Given the description of an element on the screen output the (x, y) to click on. 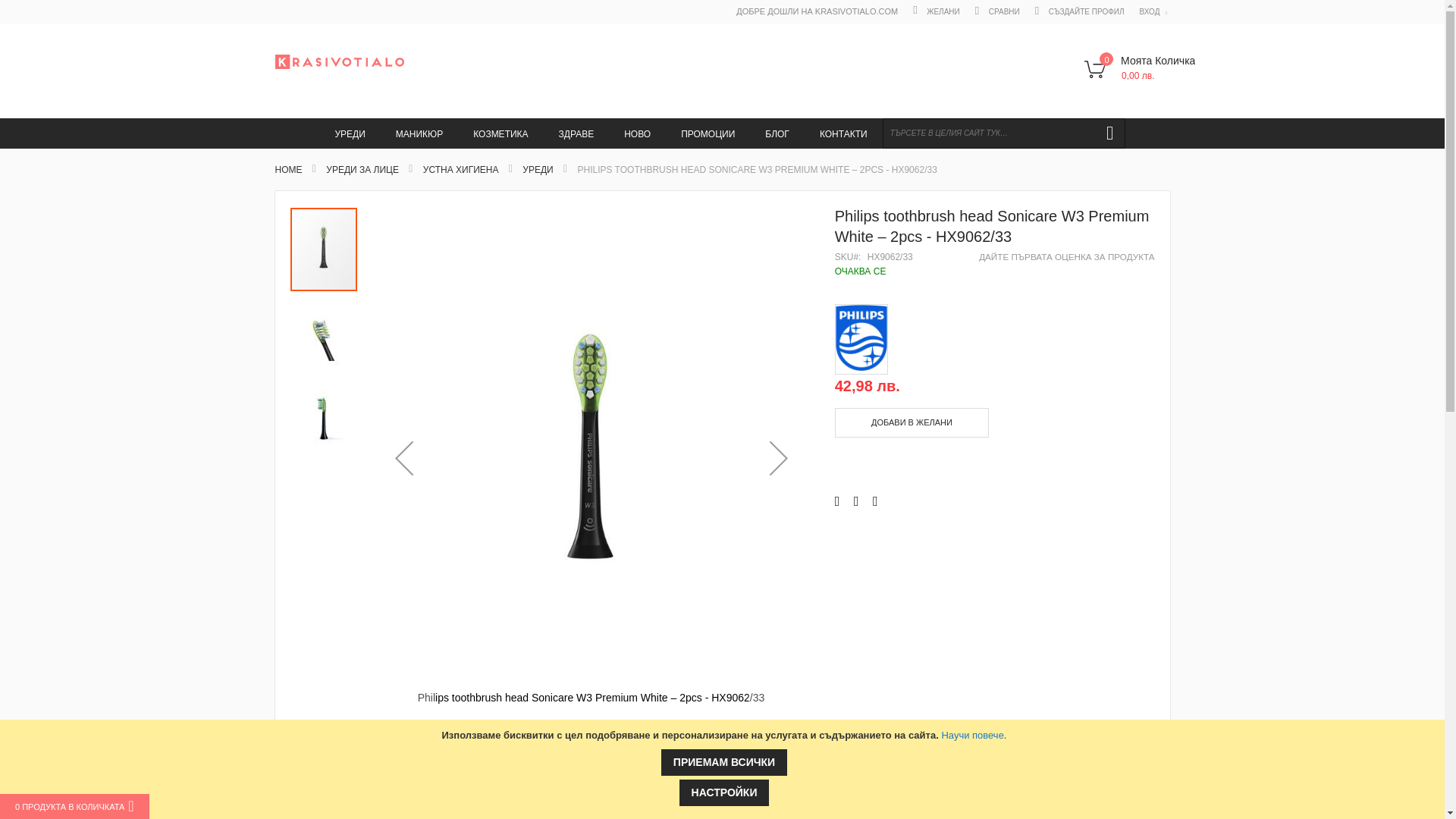
krasivotialo (339, 61)
Go to Home Page (288, 169)
